Given the description of an element on the screen output the (x, y) to click on. 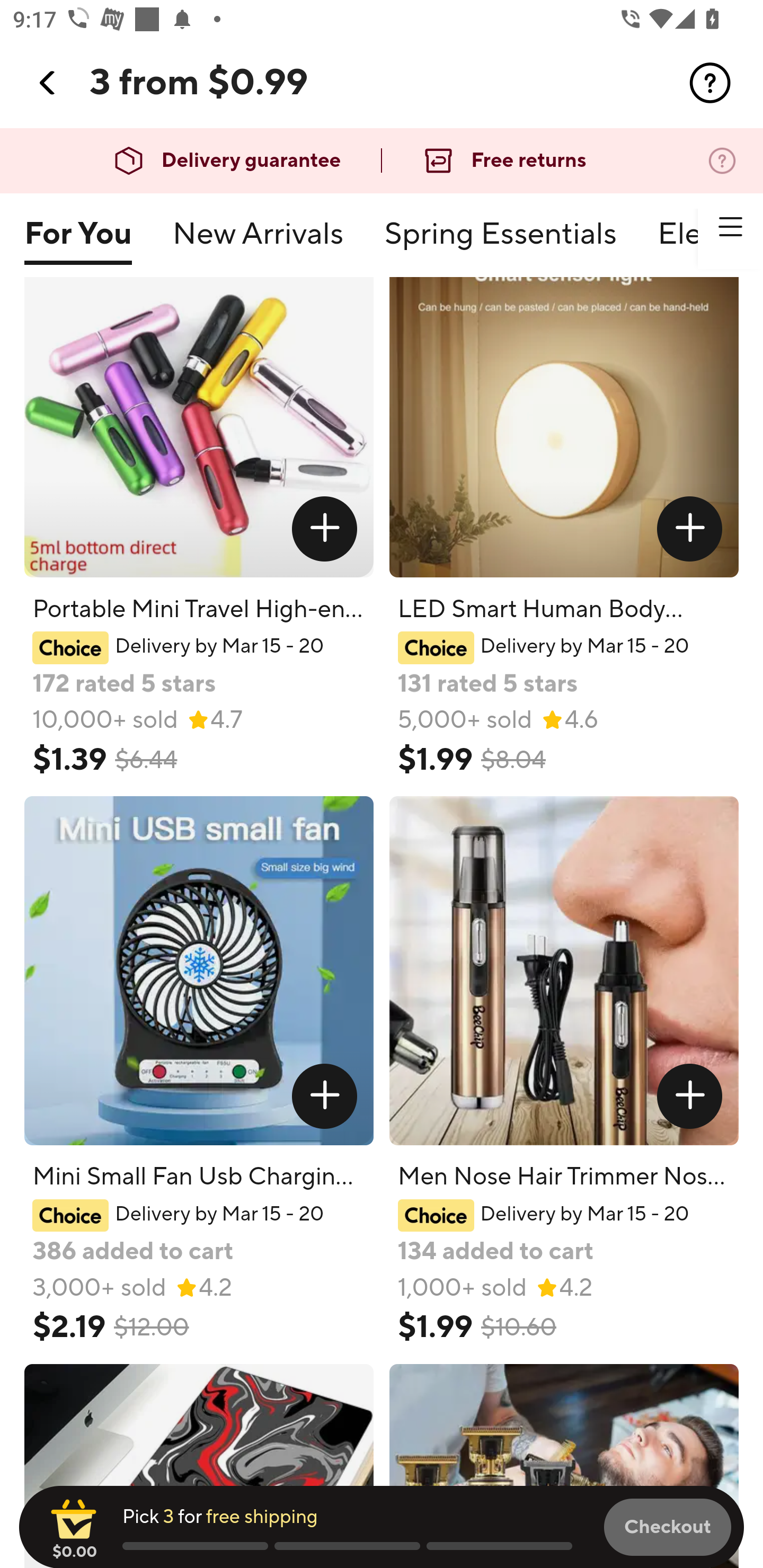
 (710, 82)
 (48, 82)
 (730, 226)
For You (77, 242)
New Arrivals (257, 242)
Spring Essentials (500, 242)
 (323, 528)
 (689, 528)
 (323, 1096)
 (689, 1096)
